Given the description of an element on the screen output the (x, y) to click on. 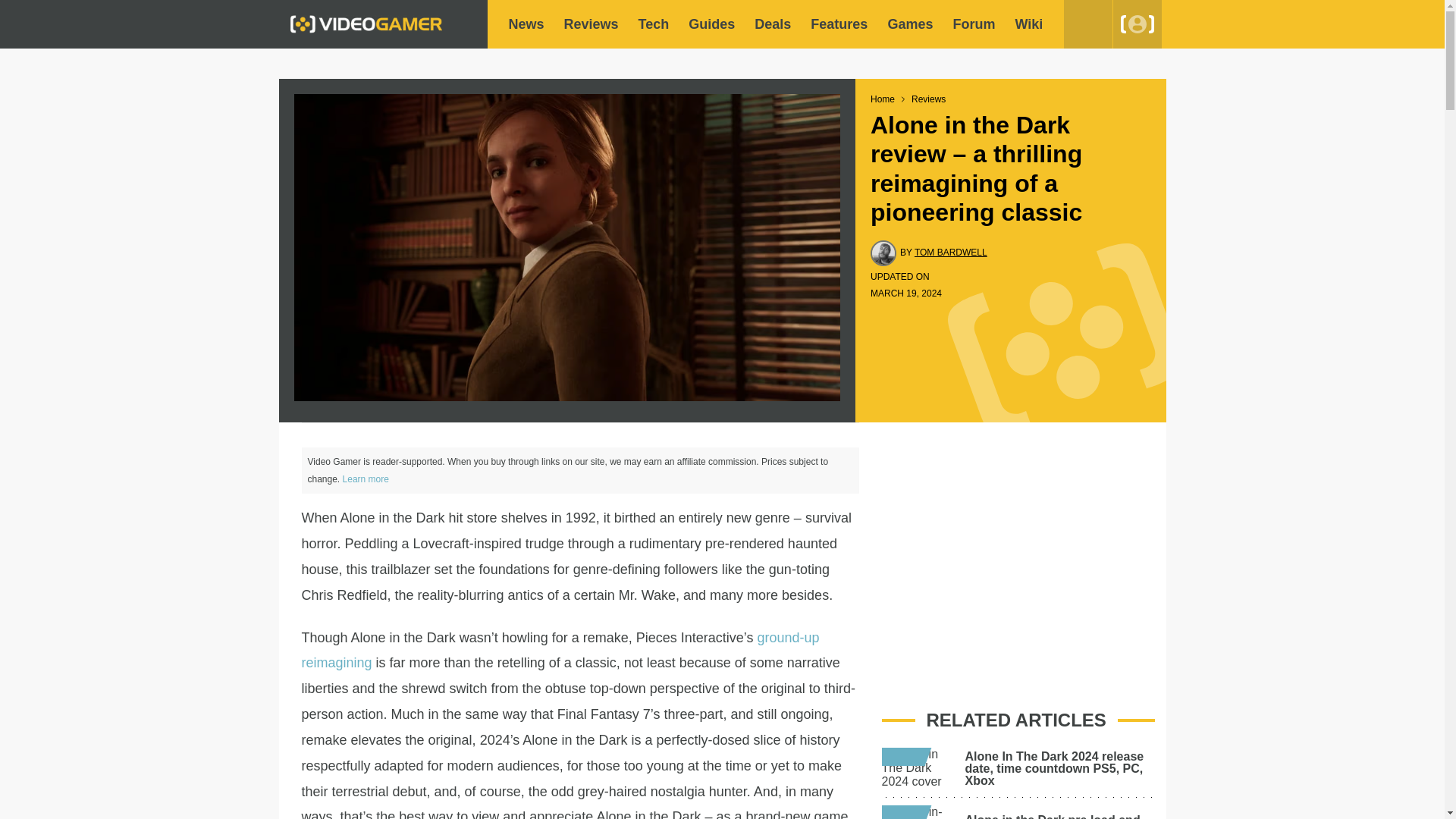
Games (909, 24)
TOM BARDWELL (950, 252)
Home (882, 99)
Guides (711, 24)
Features (838, 24)
Deals (772, 24)
Reviews (591, 24)
Learn more (365, 479)
Alone in the Dark pre load and download size explained (1052, 816)
Guides (711, 24)
